Given the description of an element on the screen output the (x, y) to click on. 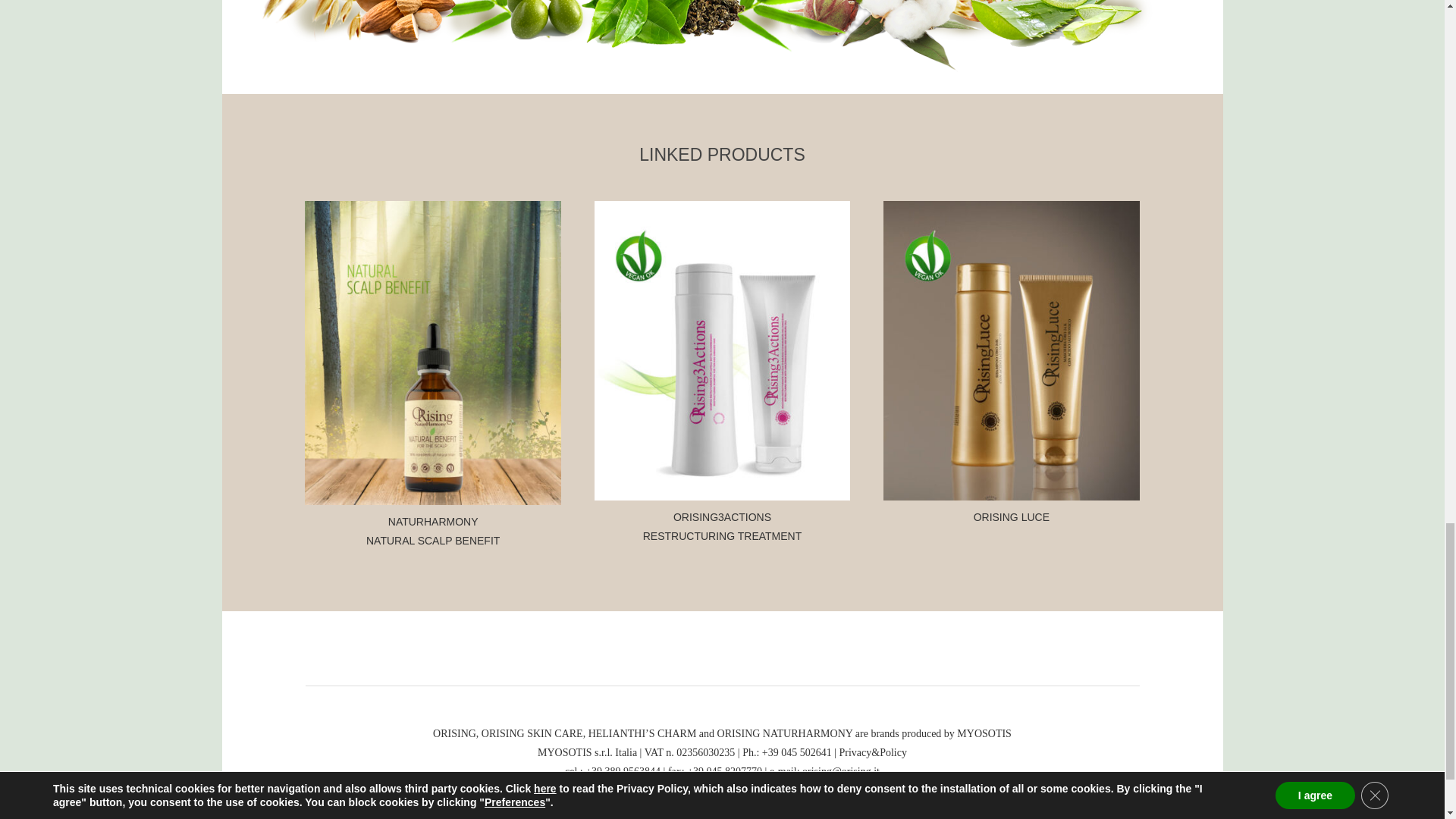
Naturharmony-REPARING-sostanze-naturali (707, 37)
